Given the description of an element on the screen output the (x, y) to click on. 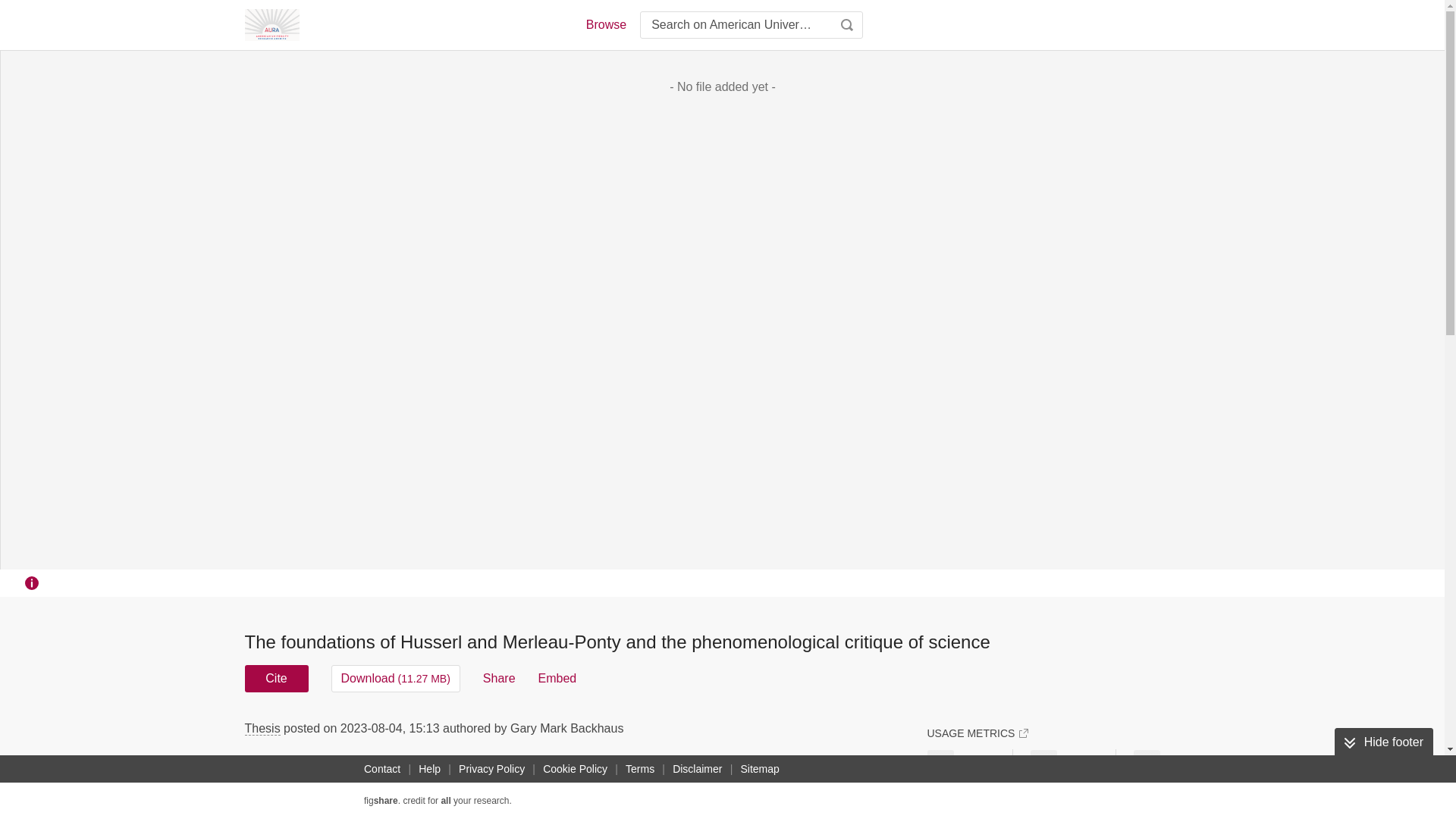
Sitemap (759, 769)
Help (429, 769)
Embed (557, 678)
Hide footer (1383, 742)
Cite (275, 678)
Browse (605, 24)
Disclaimer (697, 769)
USAGE METRICS (976, 732)
Share (499, 678)
Terms (640, 769)
